Given the description of an element on the screen output the (x, y) to click on. 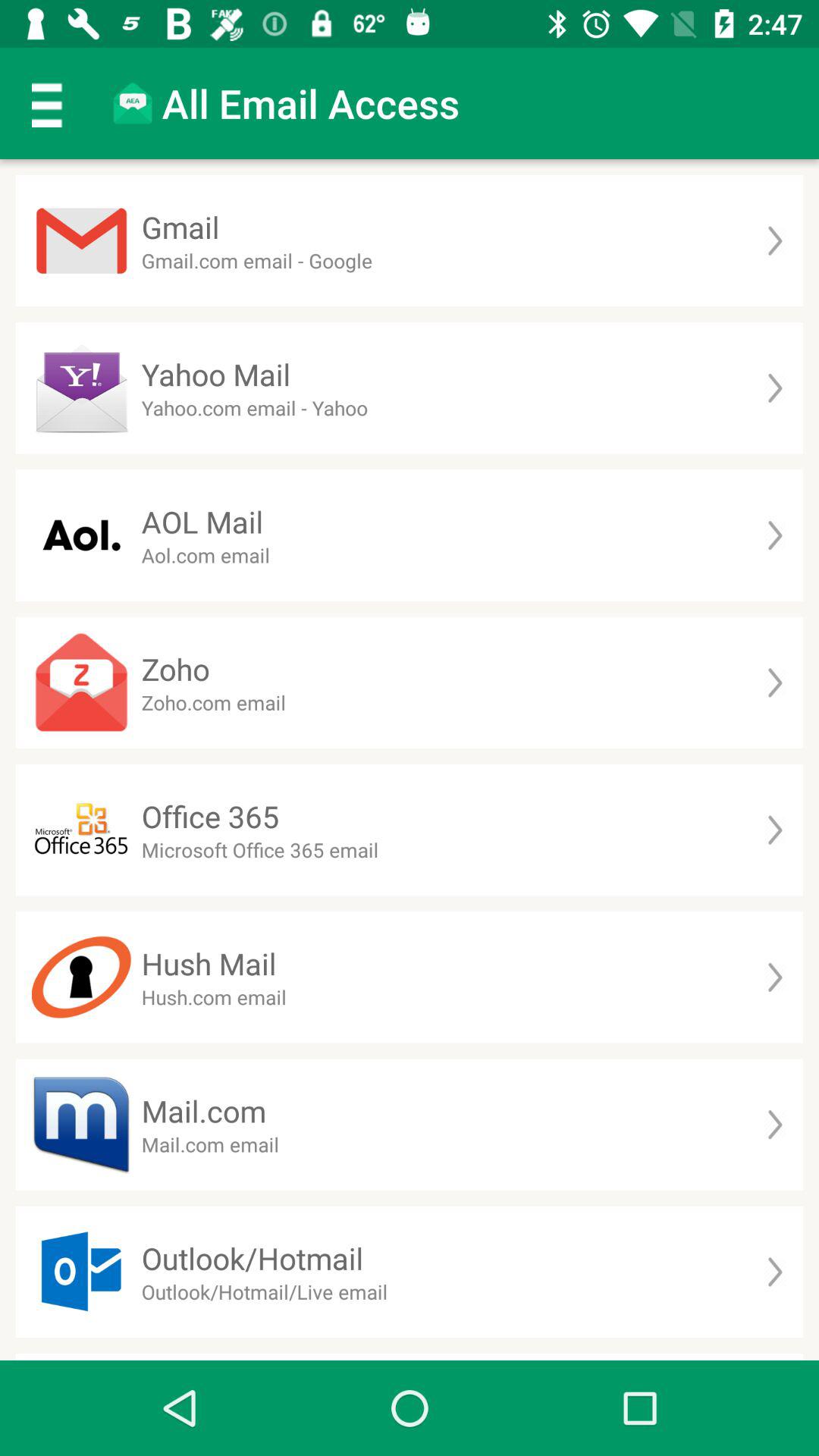
jump until the yahoo mail (215, 374)
